Given the description of an element on the screen output the (x, y) to click on. 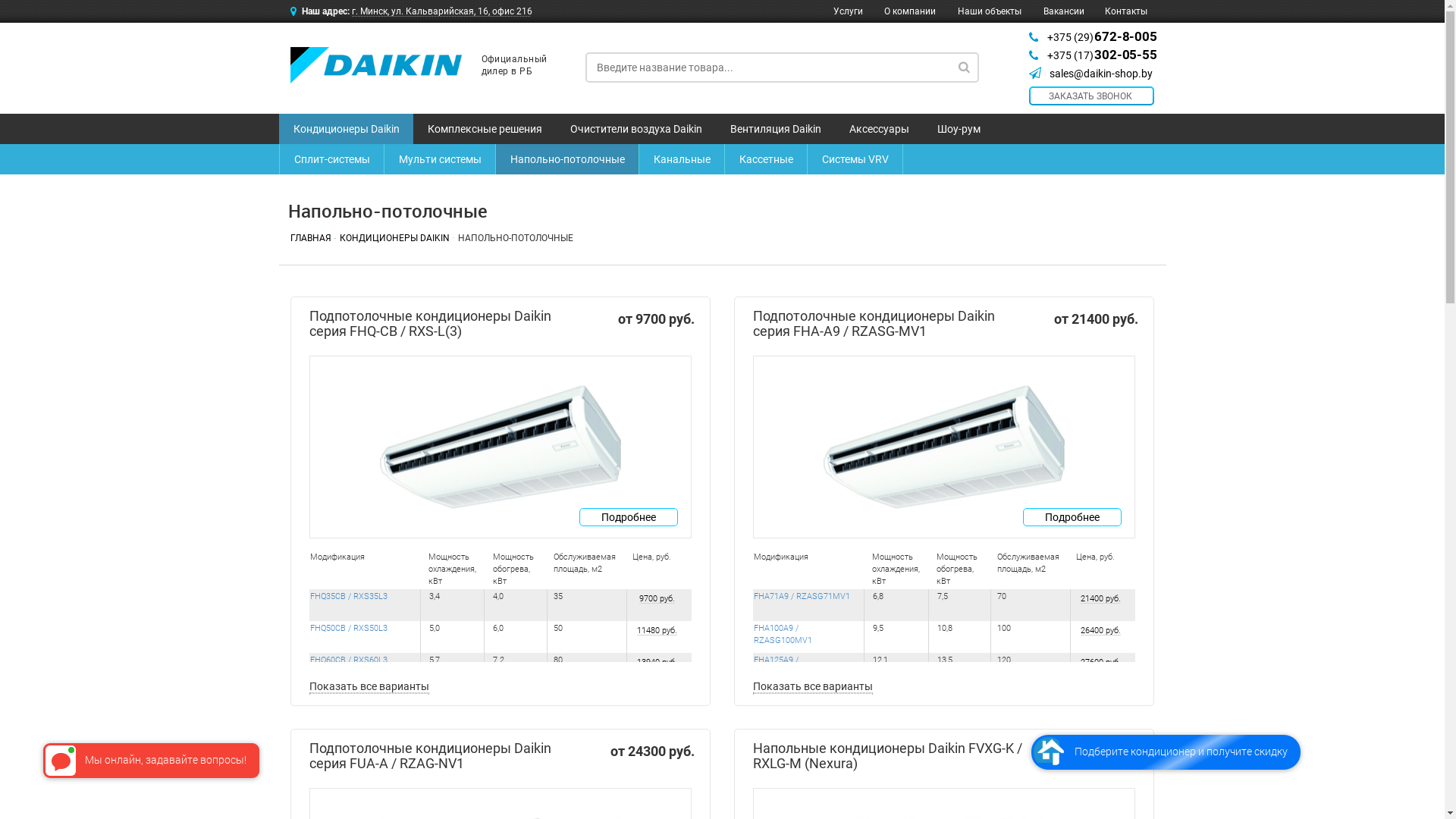
FHA125A9 / RZASG125MV1 Element type: text (782, 666)
+375 (29) 672-8-005 Element type: text (1101, 37)
FHA100A9 / RZASG100MV1 Element type: text (782, 634)
FHQ35CB / RXS35L3 Element type: text (347, 596)
sales@daikin-shop.by Element type: text (1100, 73)
+375 (17) 302-05-55 Element type: text (1101, 55)
FHQ50CB / RXS50L3 Element type: text (347, 628)
FHA71A9 / RZASG71MV1 Element type: text (801, 596)
FHQ60CB / RXS60L3 Element type: text (347, 660)
